Given the description of an element on the screen output the (x, y) to click on. 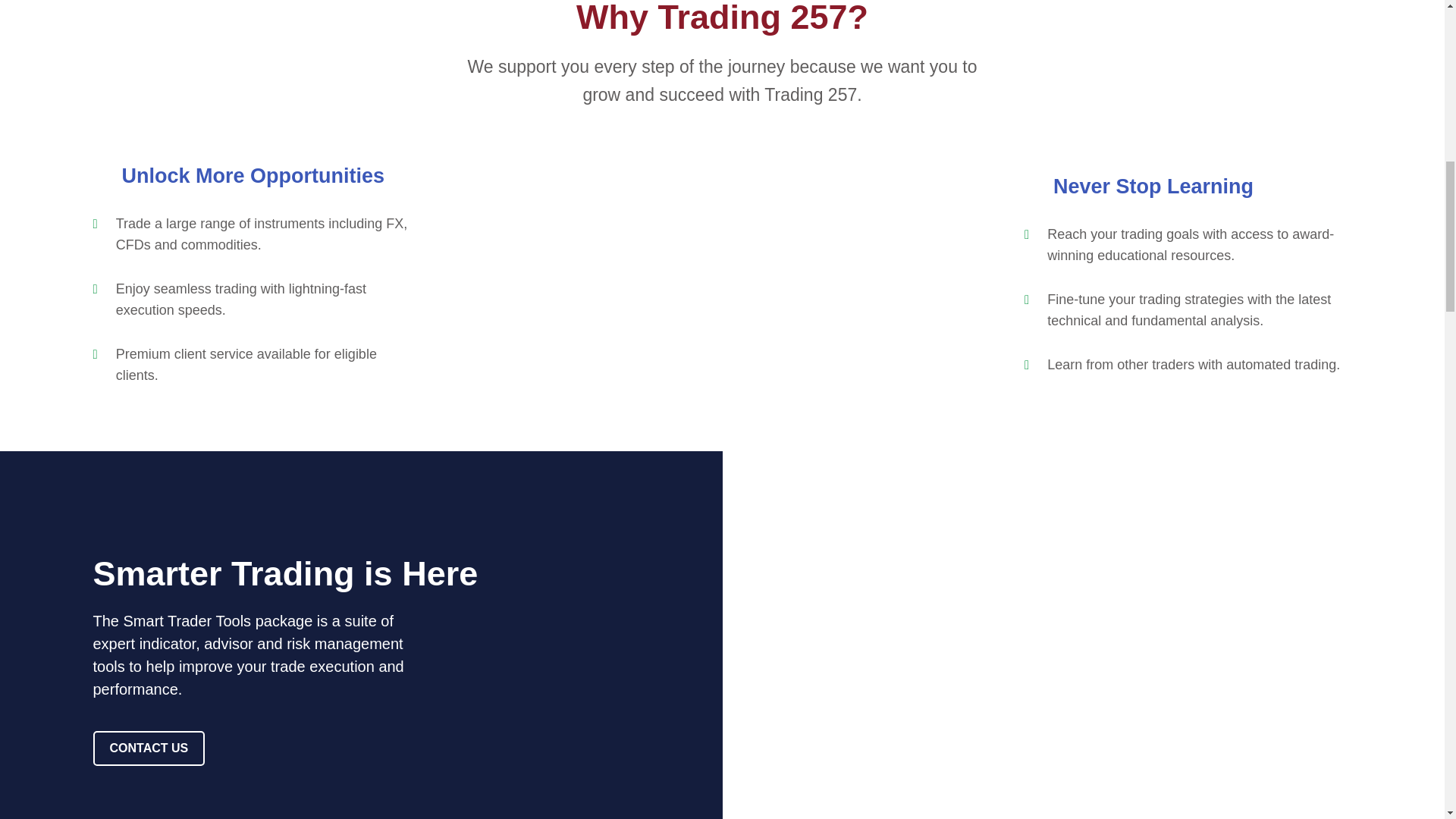
CONTACT US (149, 748)
